Given the description of an element on the screen output the (x, y) to click on. 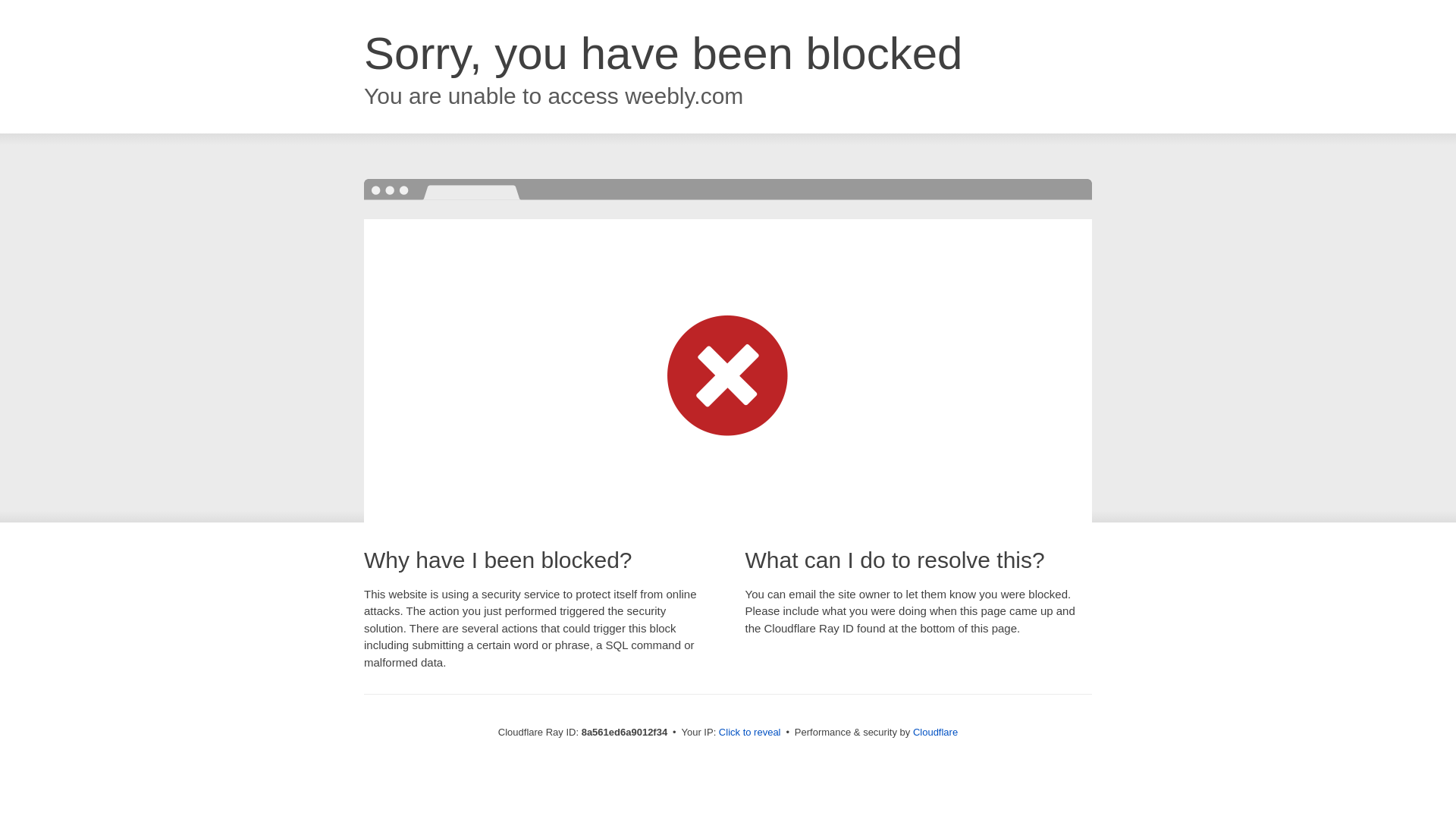
Click to reveal (749, 732)
Cloudflare (935, 731)
